Given the description of an element on the screen output the (x, y) to click on. 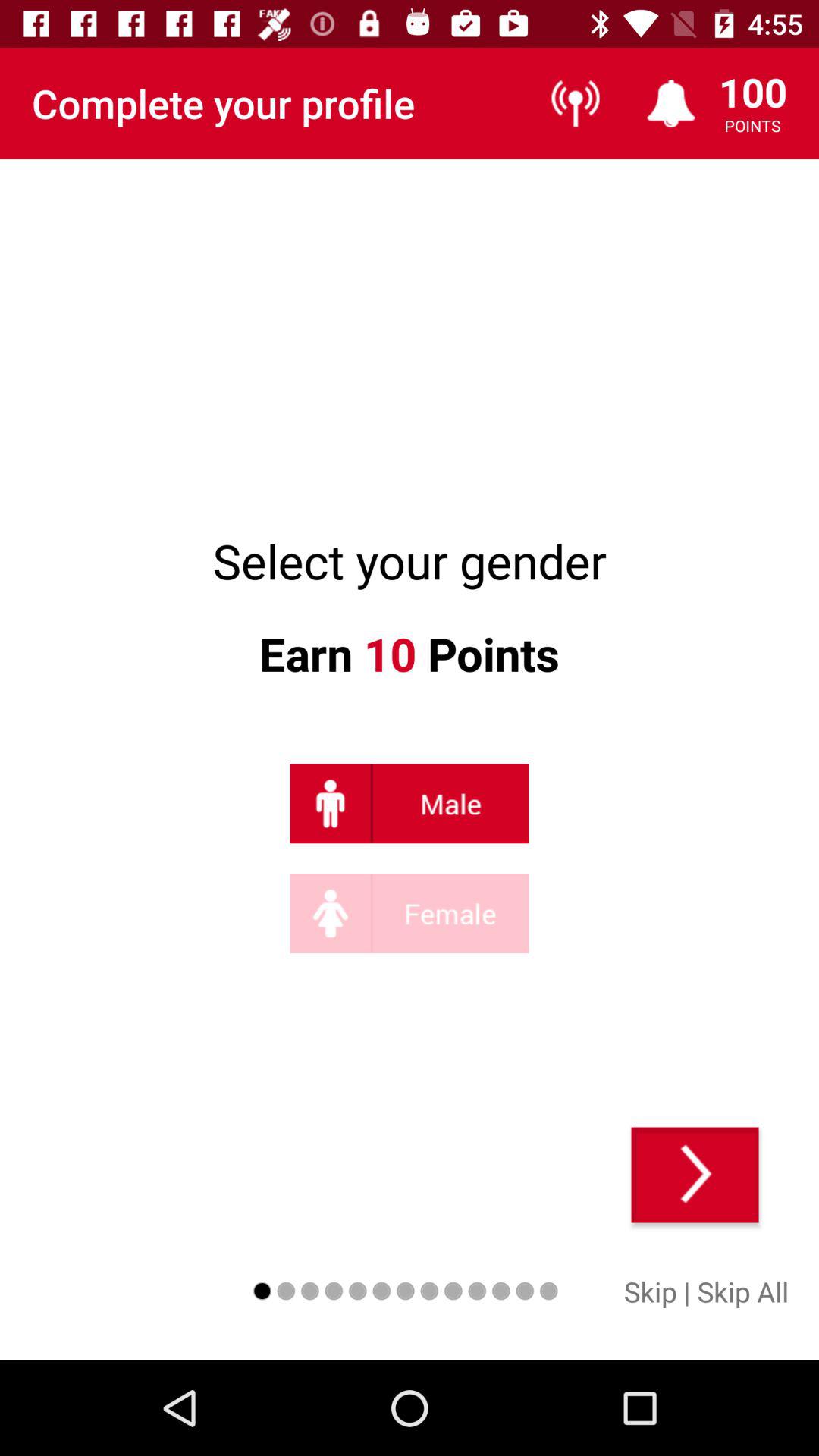
select female as gender (409, 913)
